Given the description of an element on the screen output the (x, y) to click on. 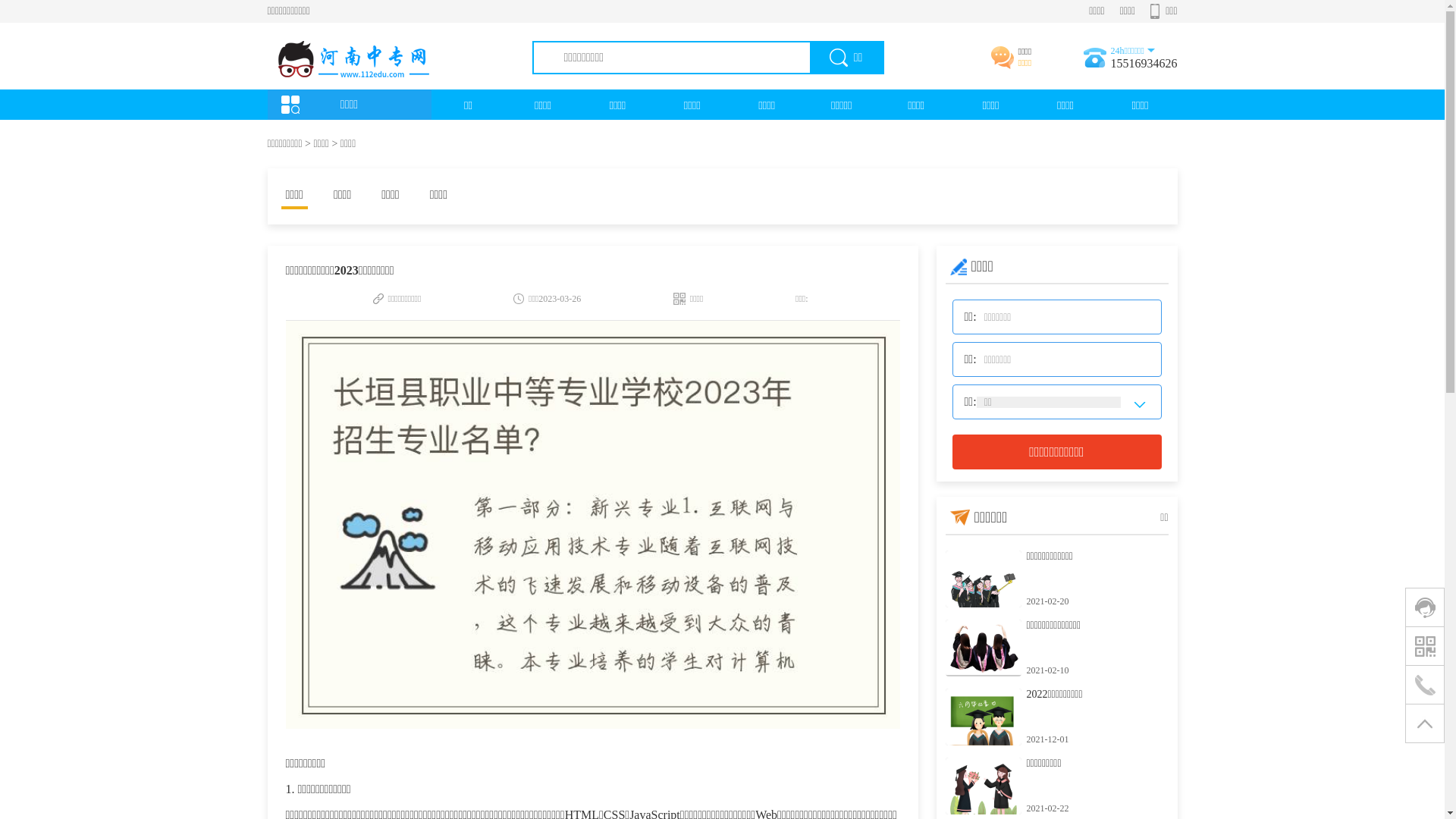
0 Element type: text (1424, 606)
